Given the description of an element on the screen output the (x, y) to click on. 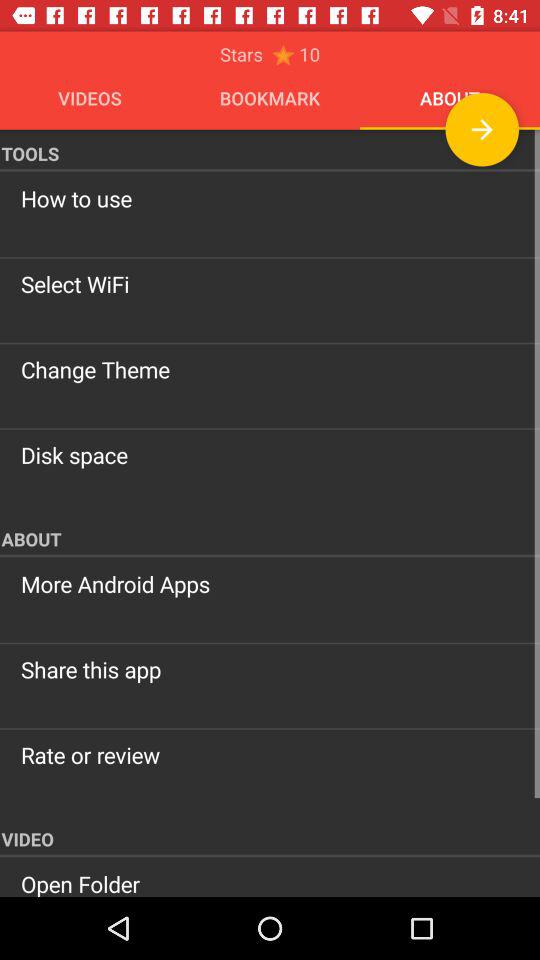
go to next page (482, 129)
